Given the description of an element on the screen output the (x, y) to click on. 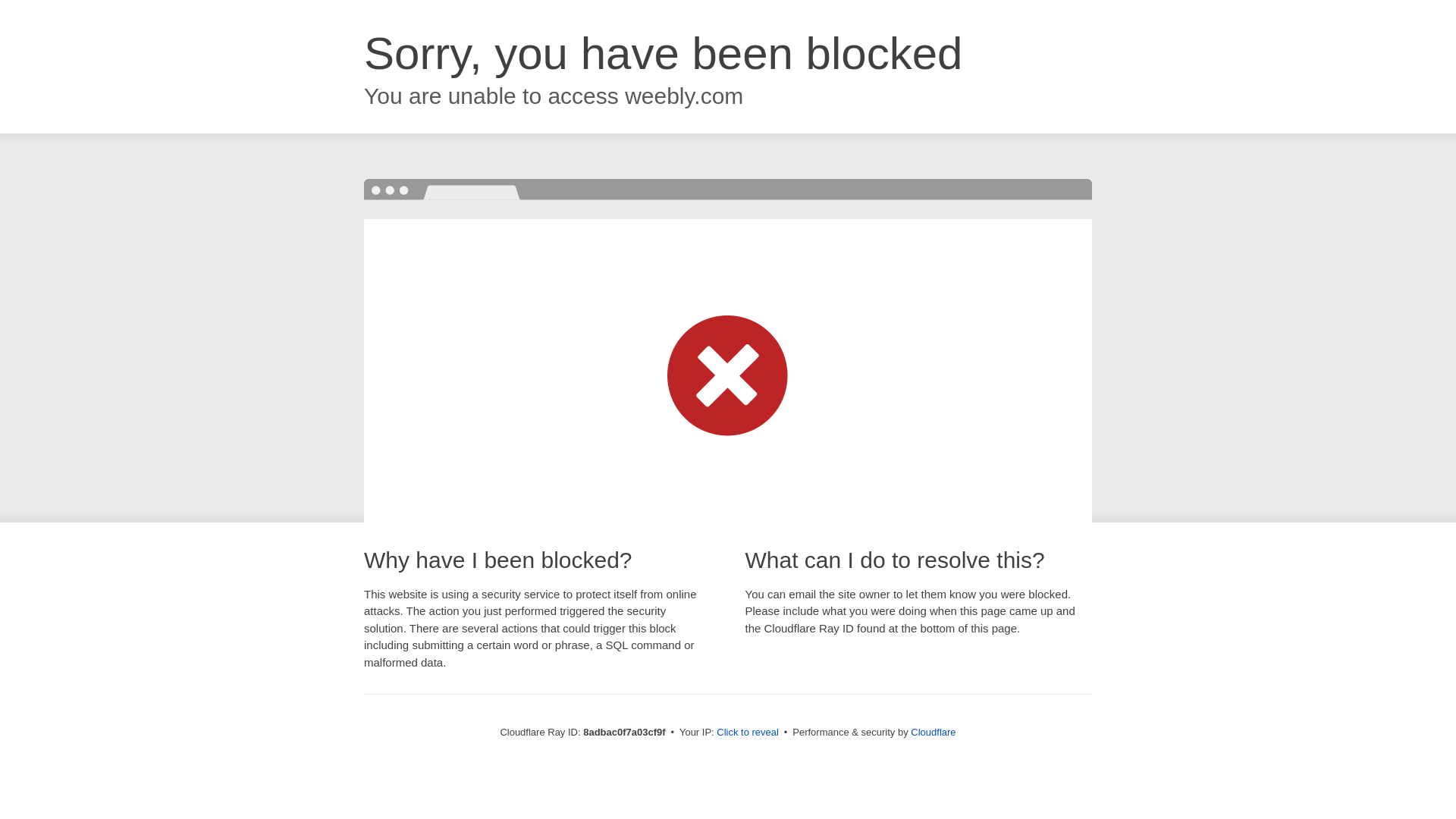
Click to reveal (747, 732)
Cloudflare (933, 731)
